Given the description of an element on the screen output the (x, y) to click on. 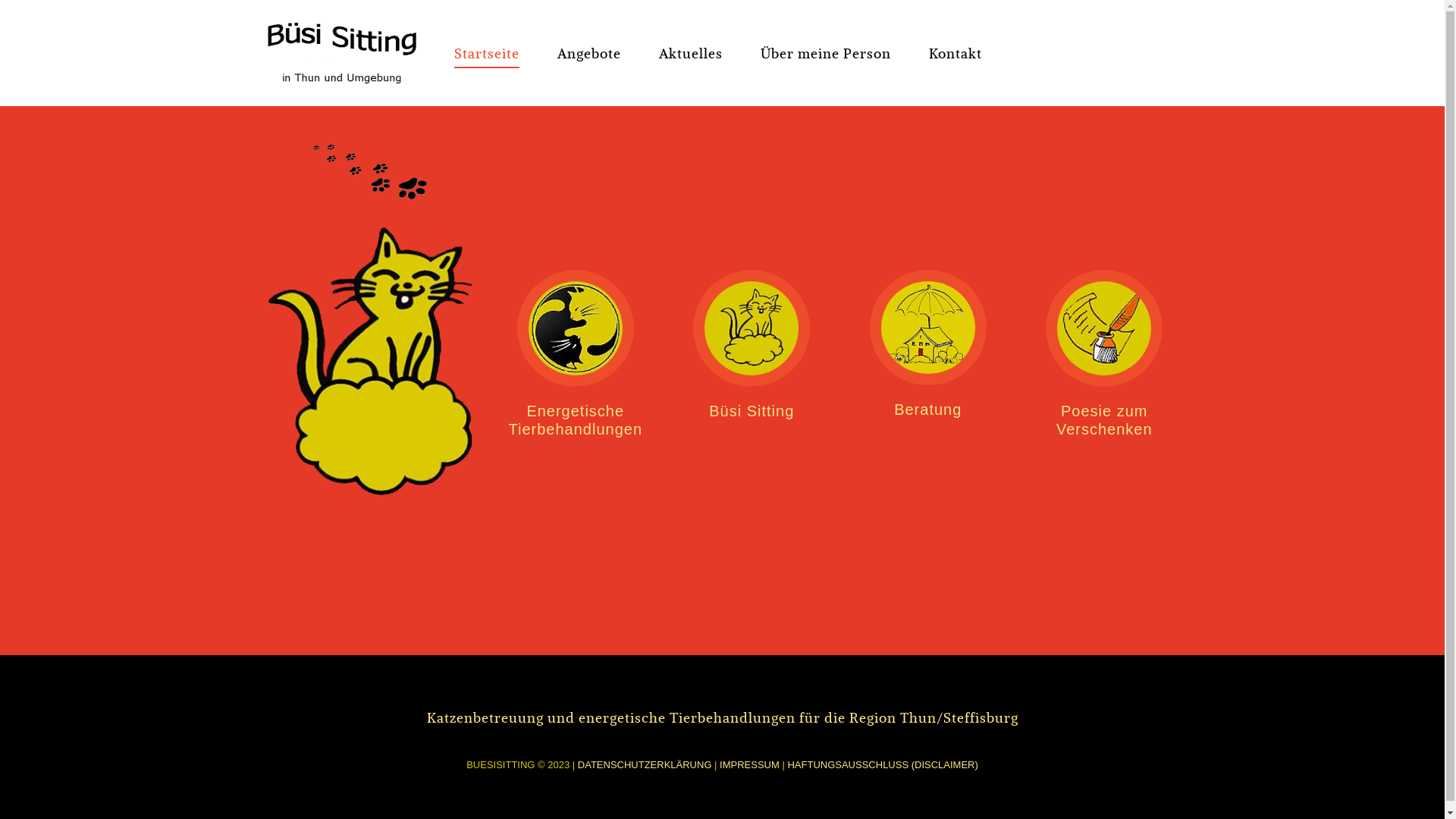
Beratung Element type: text (928, 353)
Kontakt Element type: text (954, 53)
Energetische
Tierbehandlungen Element type: text (575, 353)
IMPRESSUM Element type: text (749, 764)
Poesie zum Verschenken Element type: text (1104, 353)
Angebote Element type: text (588, 53)
Startseite Element type: text (485, 53)
Aktuelles Element type: text (689, 53)
HAFTUNGSAUSSCHLUSS (DISCLAIMER) Element type: text (882, 764)
